Given the description of an element on the screen output the (x, y) to click on. 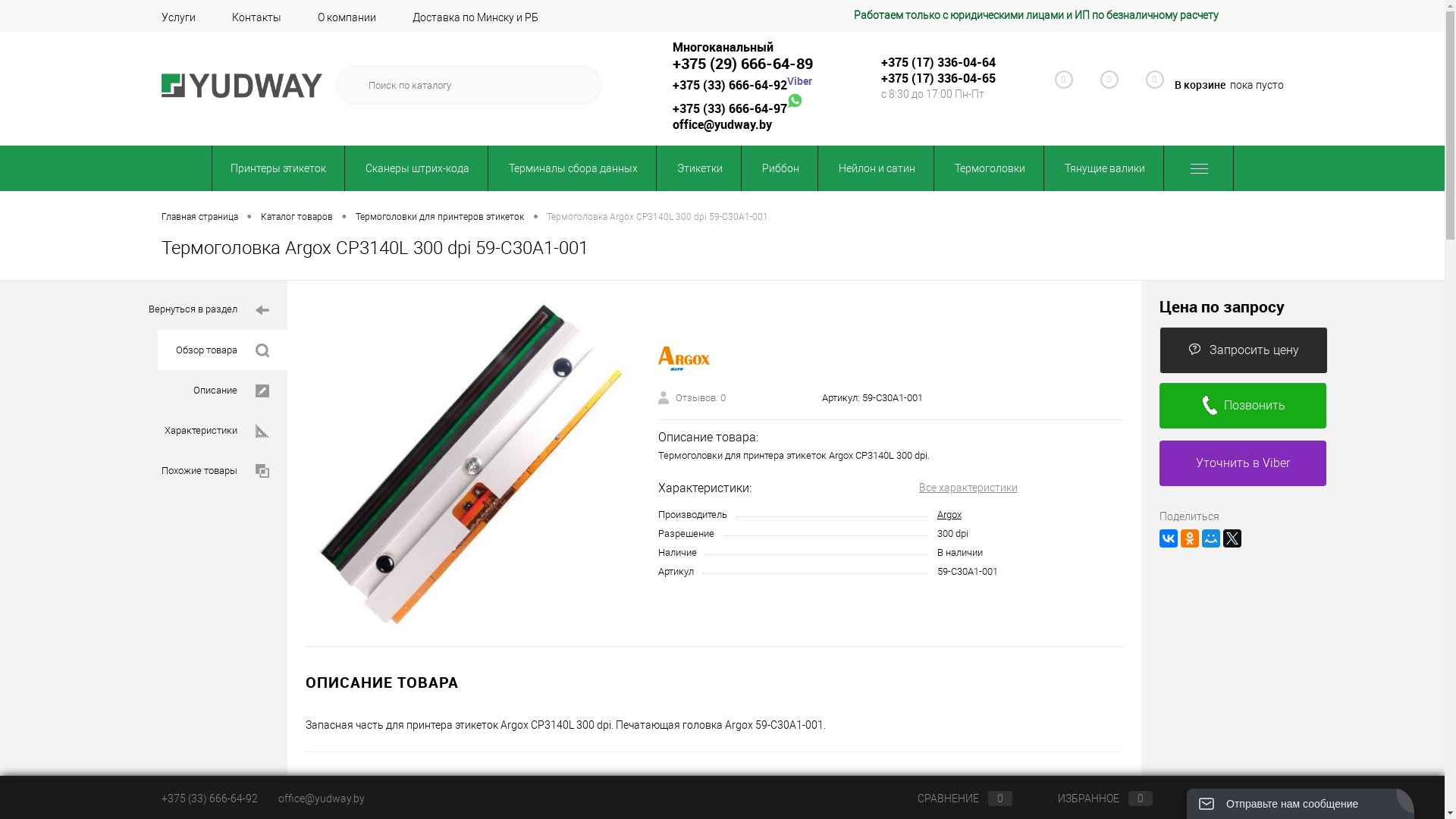
+375 (29) 666-64-89 Element type: text (741, 63)
Twitter Element type: hover (1232, 538)
office@yudway.by Element type: text (721, 124)
Y Element type: text (578, 84)
+375 (33) 666-64-92 Element type: text (728, 84)
+375 (33) 666-64-97 Element type: text (728, 108)
office@yudway.by Element type: text (320, 798)
+375 (33) 666-64-92 Element type: text (208, 798)
0 Element type: text (1146, 85)
Argox Element type: text (949, 514)
0 Element type: text (1055, 87)
0 Element type: text (1100, 87)
